Given the description of an element on the screen output the (x, y) to click on. 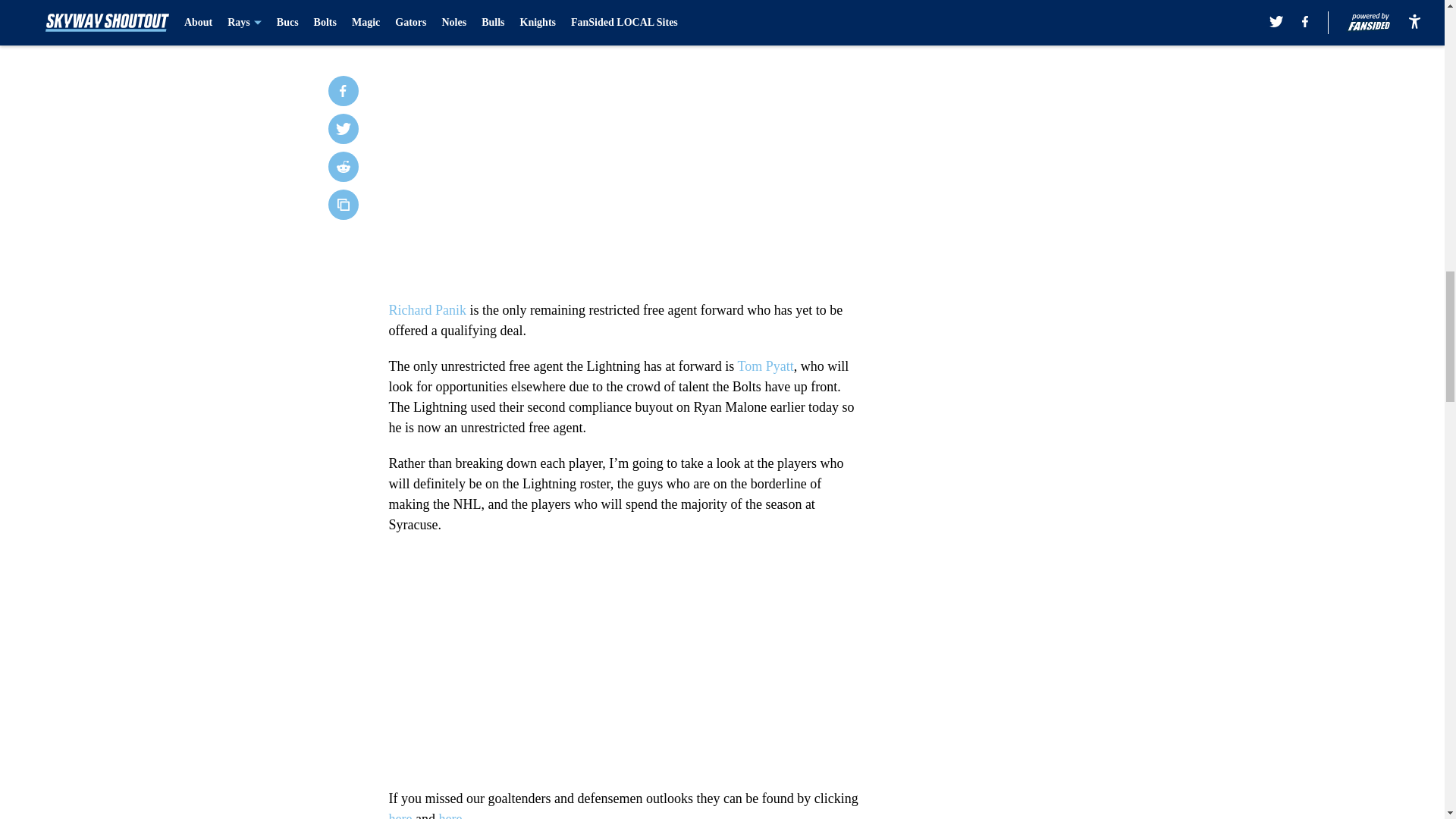
Richard Panik (426, 309)
Tom Pyatt (765, 365)
